Given the description of an element on the screen output the (x, y) to click on. 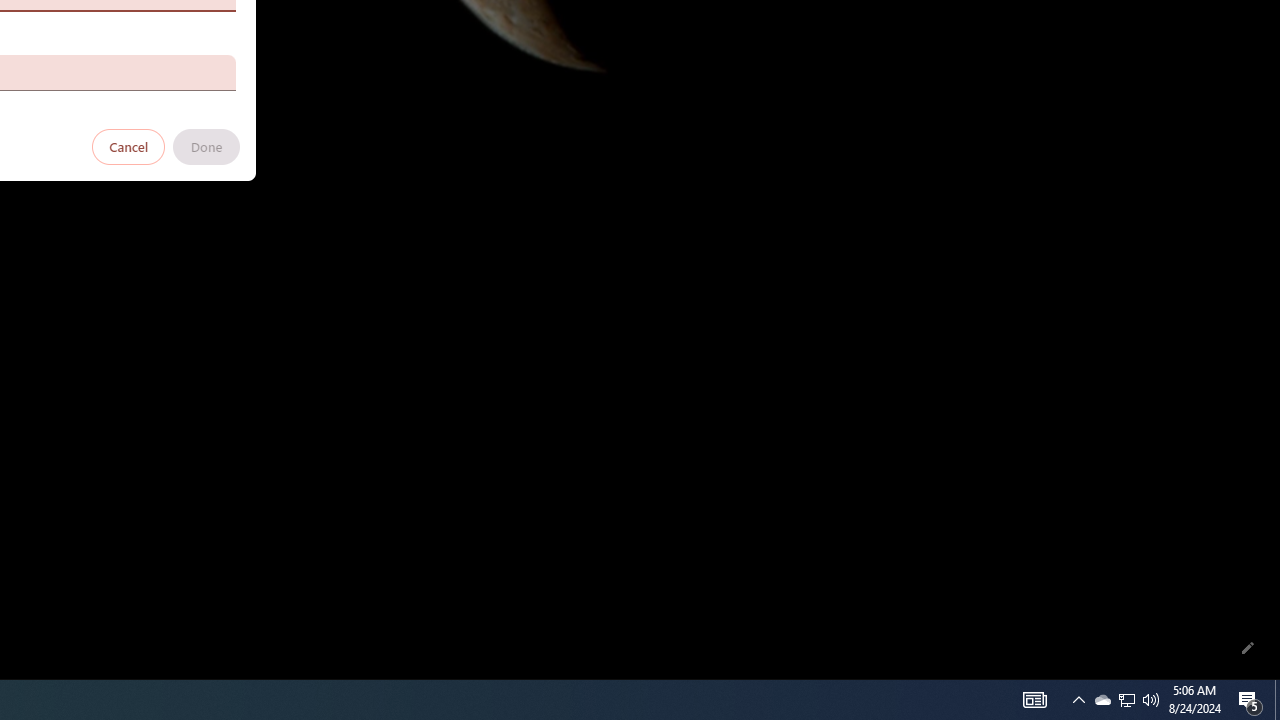
Done (206, 146)
Cancel (129, 146)
